Given the description of an element on the screen output the (x, y) to click on. 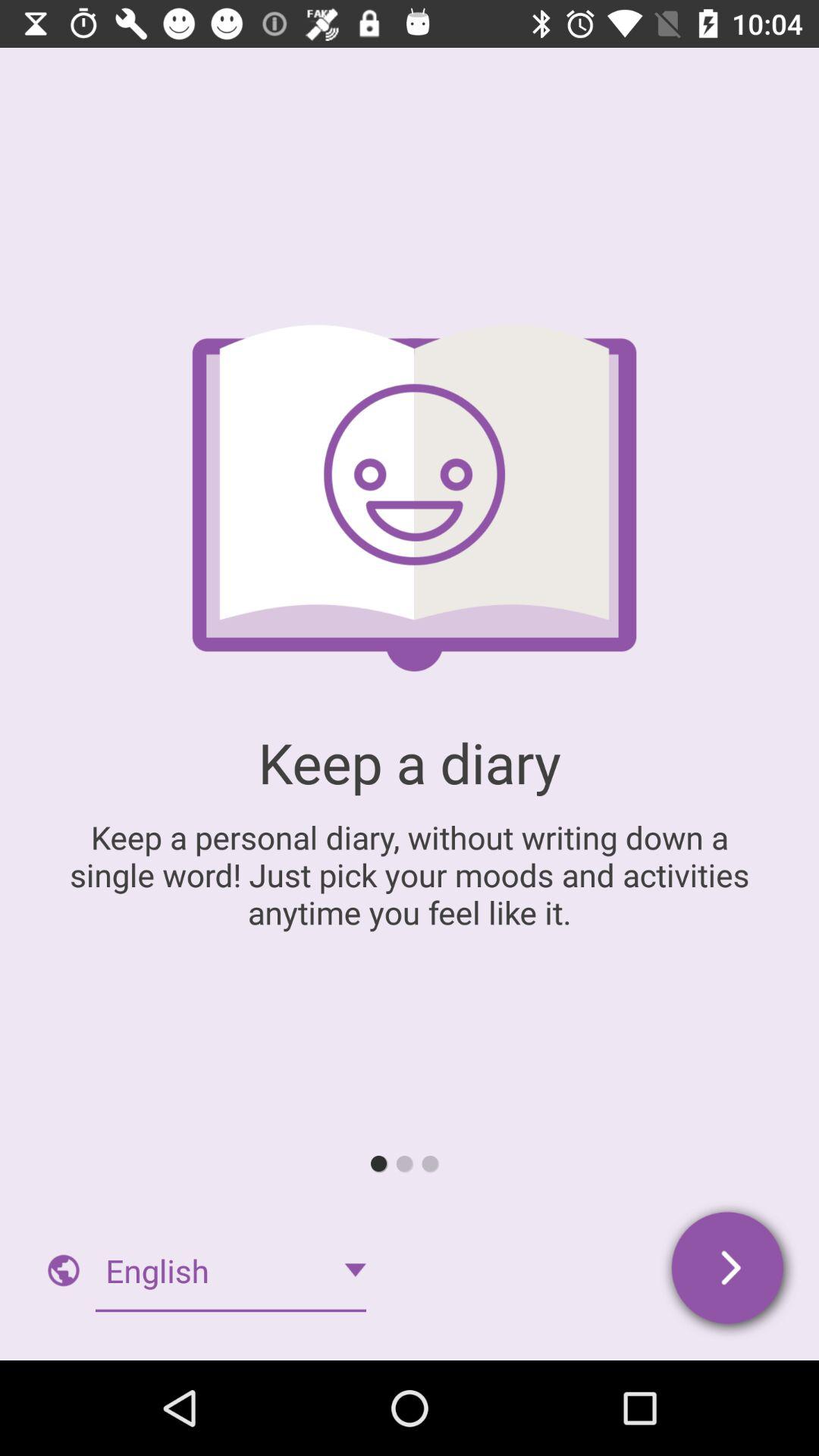
proceed to next page (729, 1270)
